Given the description of an element on the screen output the (x, y) to click on. 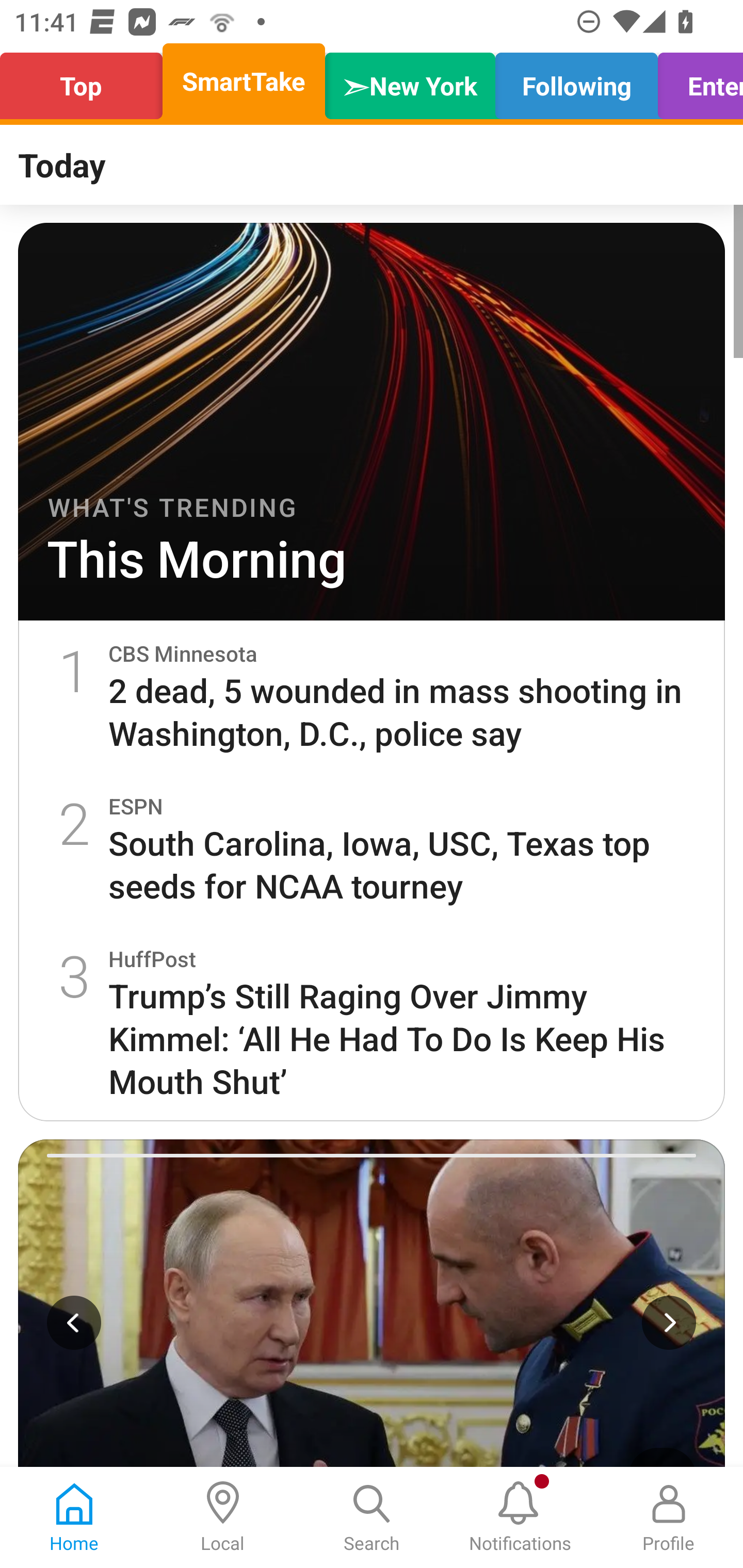
Top (86, 81)
SmartTake (243, 81)
➣New York (409, 81)
Following (576, 81)
2/5 (371, 1303)
Local (222, 1517)
Search (371, 1517)
Notifications, New notification Notifications (519, 1517)
Profile (668, 1517)
